Given the description of an element on the screen output the (x, y) to click on. 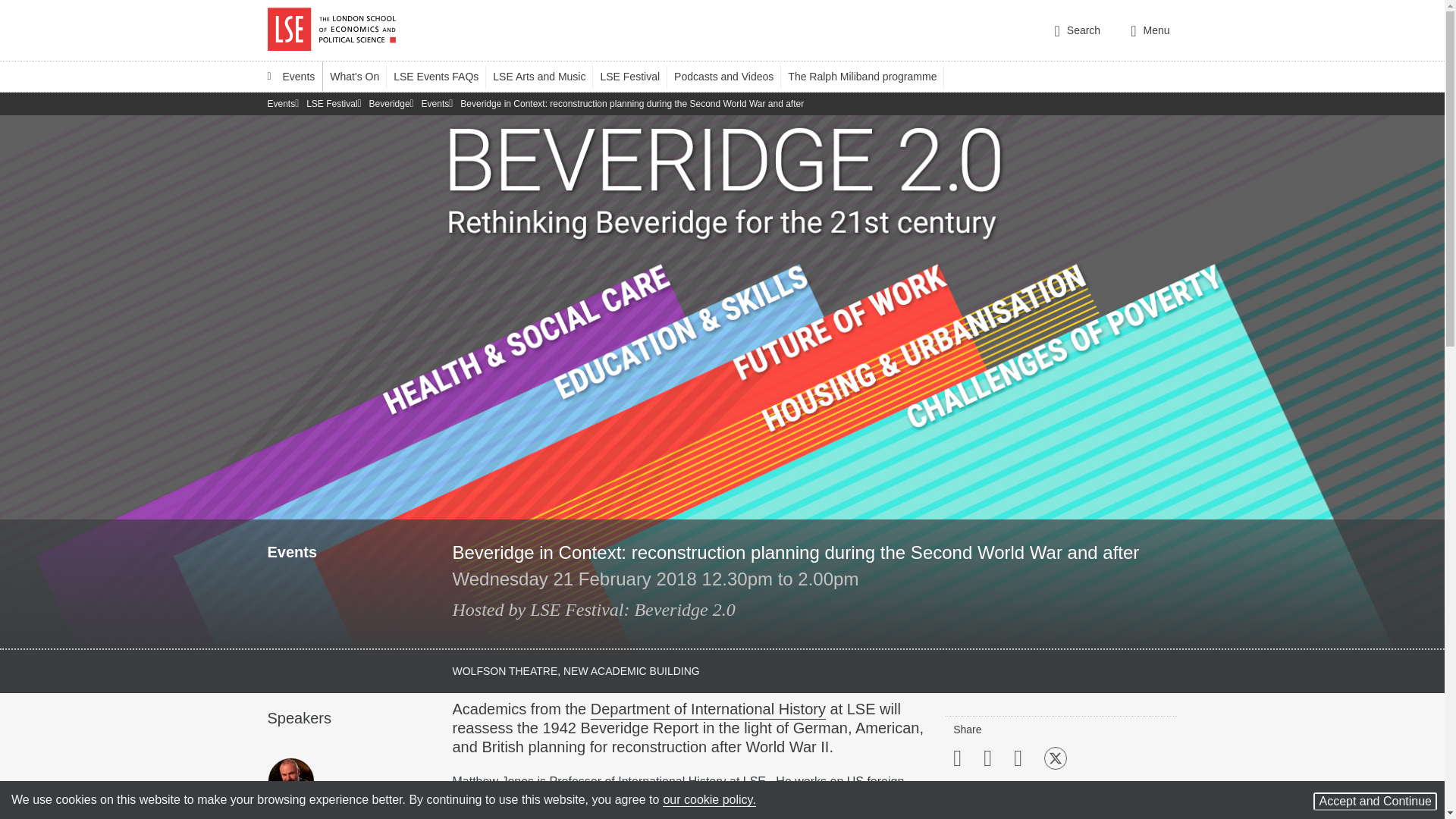
The Ralph Miliband Programme (868, 76)
LSE Events FAQ (443, 76)
LSE Events (291, 76)
Podcasts and Videos (730, 76)
our cookie policy. (708, 799)
Search (1077, 30)
LSE Events FAQs (443, 76)
LSE Arts and Music (546, 76)
Podcasts and Videos (730, 76)
What's on (361, 76)
London School of Economics and Political Science (330, 30)
Menu (1150, 30)
The Ralph Miliband programme (868, 76)
LSE Arts and Music (546, 76)
What's On (361, 76)
